Given the description of an element on the screen output the (x, y) to click on. 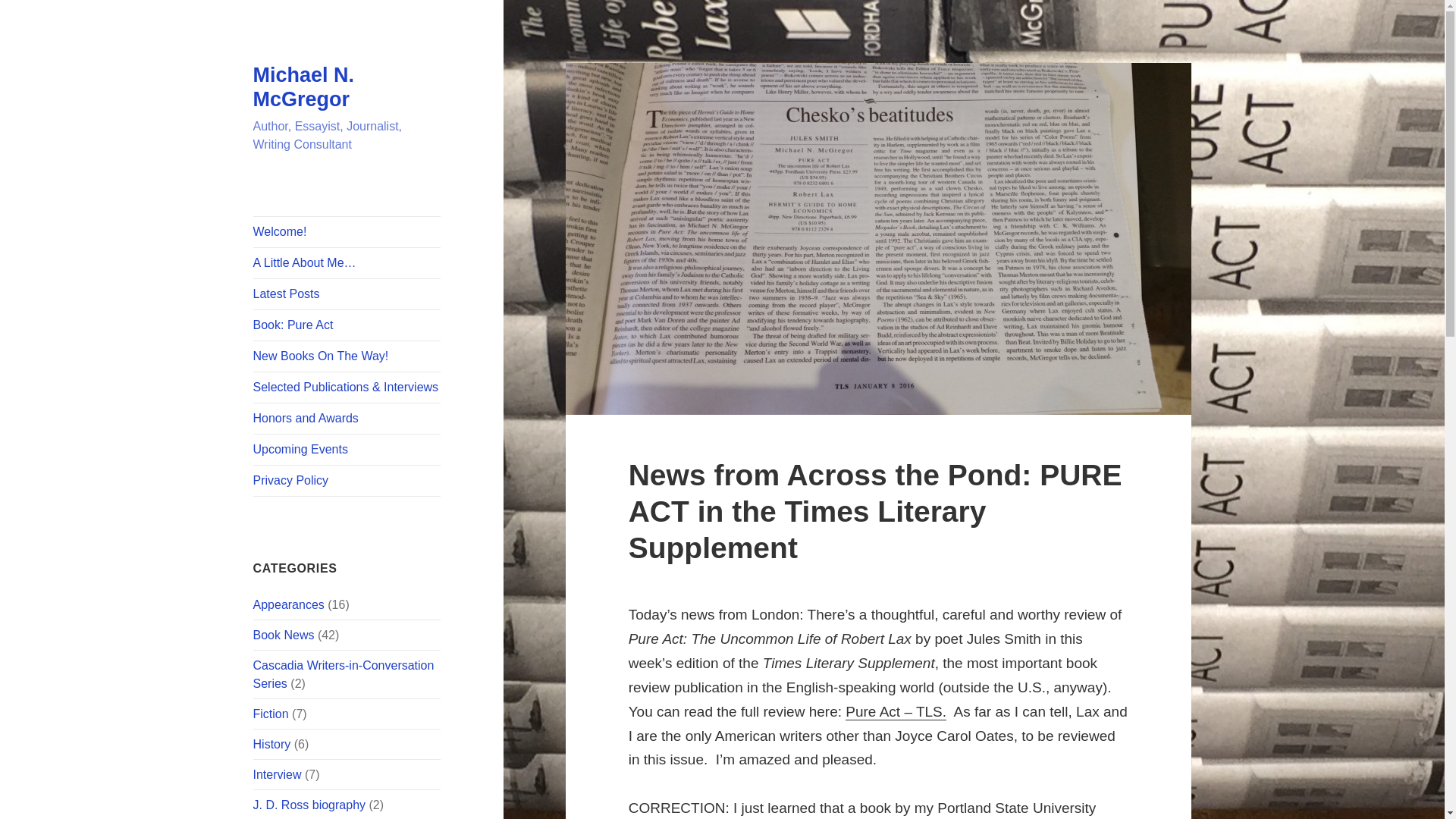
J. D. Ross biography (309, 804)
Cascadia Writers-in-Conversation Series (343, 674)
Privacy Policy (347, 481)
Fiction (270, 713)
Welcome! (347, 232)
Latest Posts (347, 294)
Book News (283, 634)
Interview (277, 774)
Honors and Awards (347, 418)
Michael N. McGregor (304, 86)
